Given the description of an element on the screen output the (x, y) to click on. 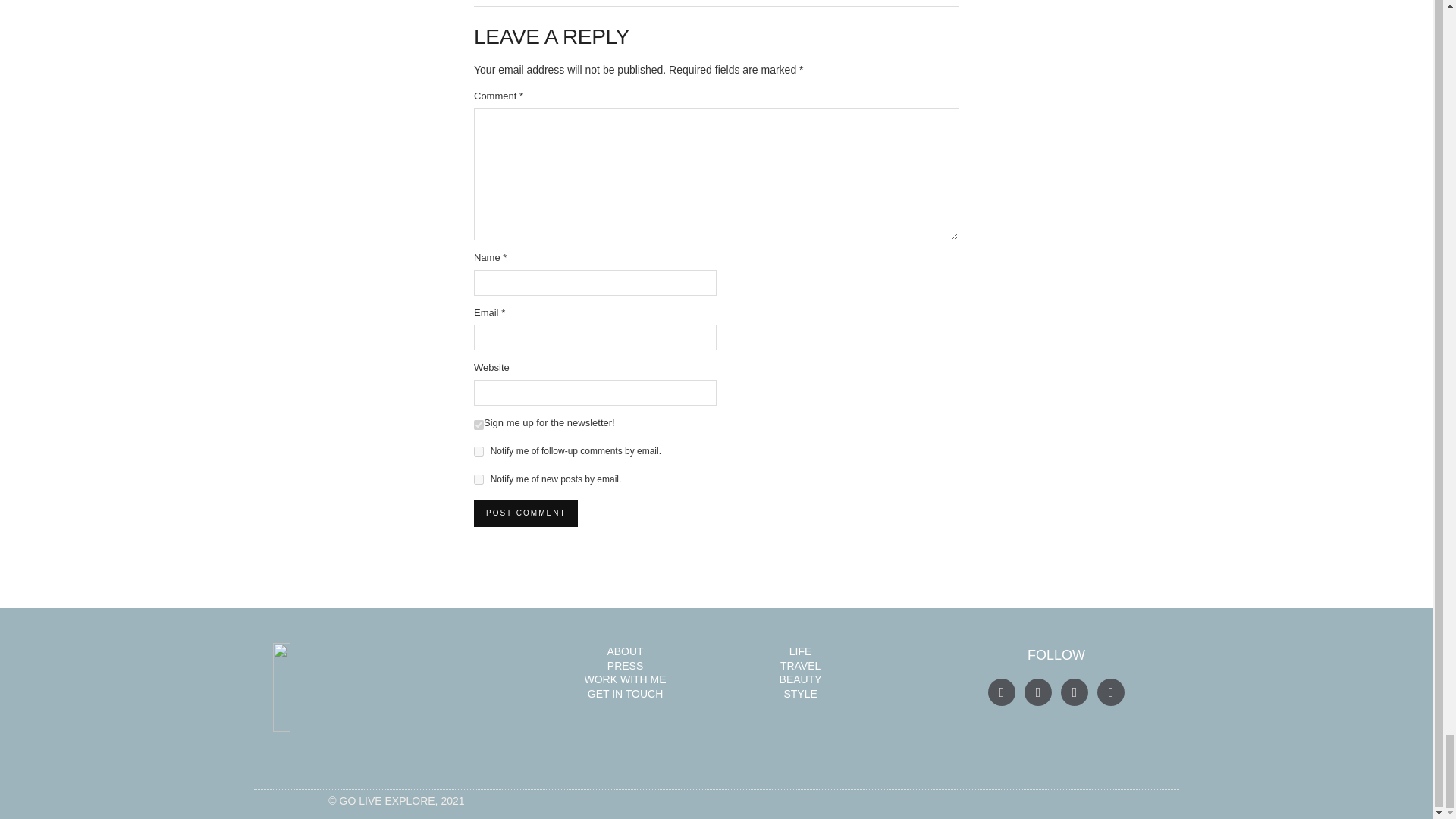
subscribe (478, 479)
Post Comment (526, 513)
subscribe (478, 451)
1 (478, 424)
